Given the description of an element on the screen output the (x, y) to click on. 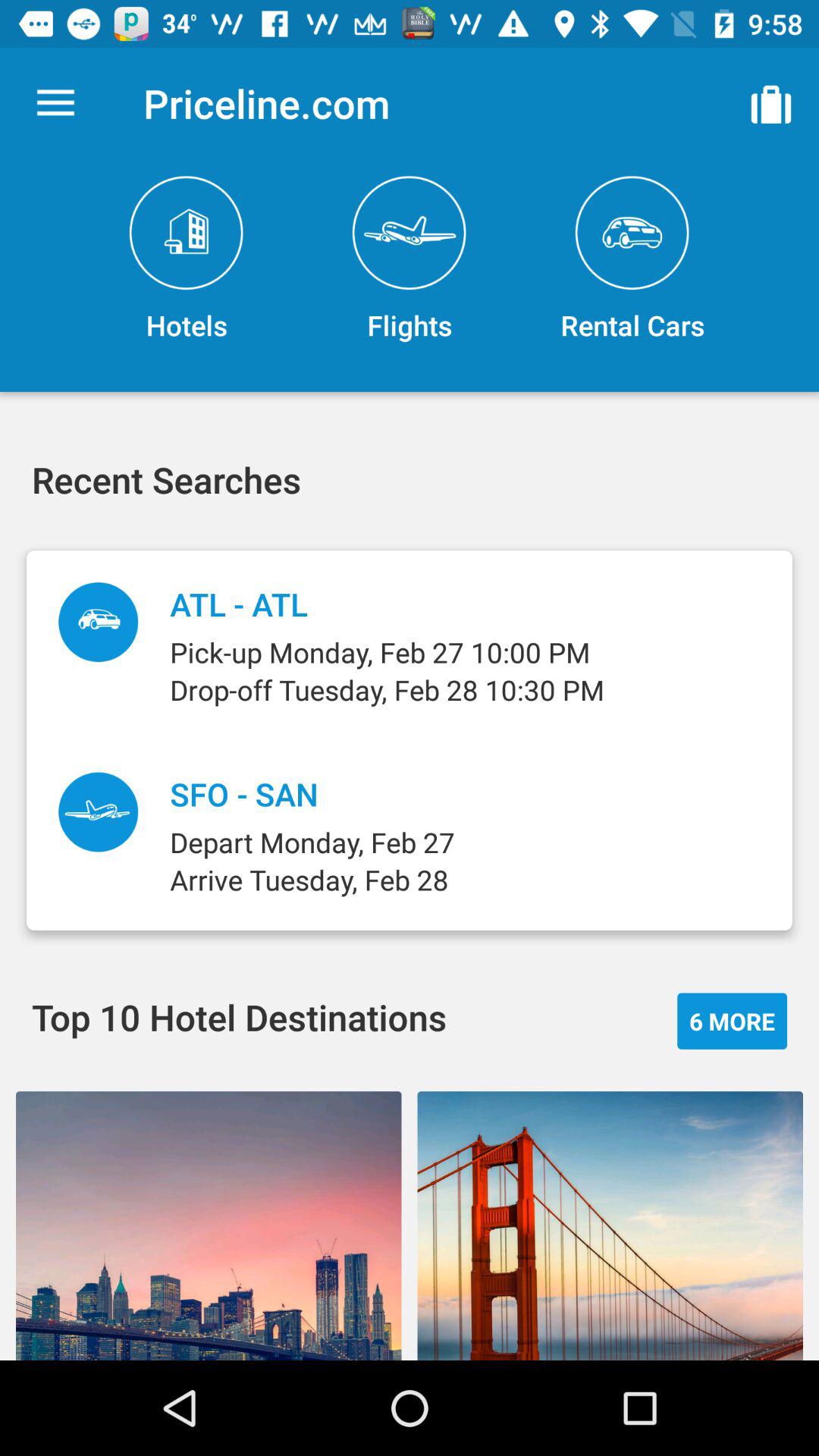
launch icon above atl - atl icon (409, 259)
